Given the description of an element on the screen output the (x, y) to click on. 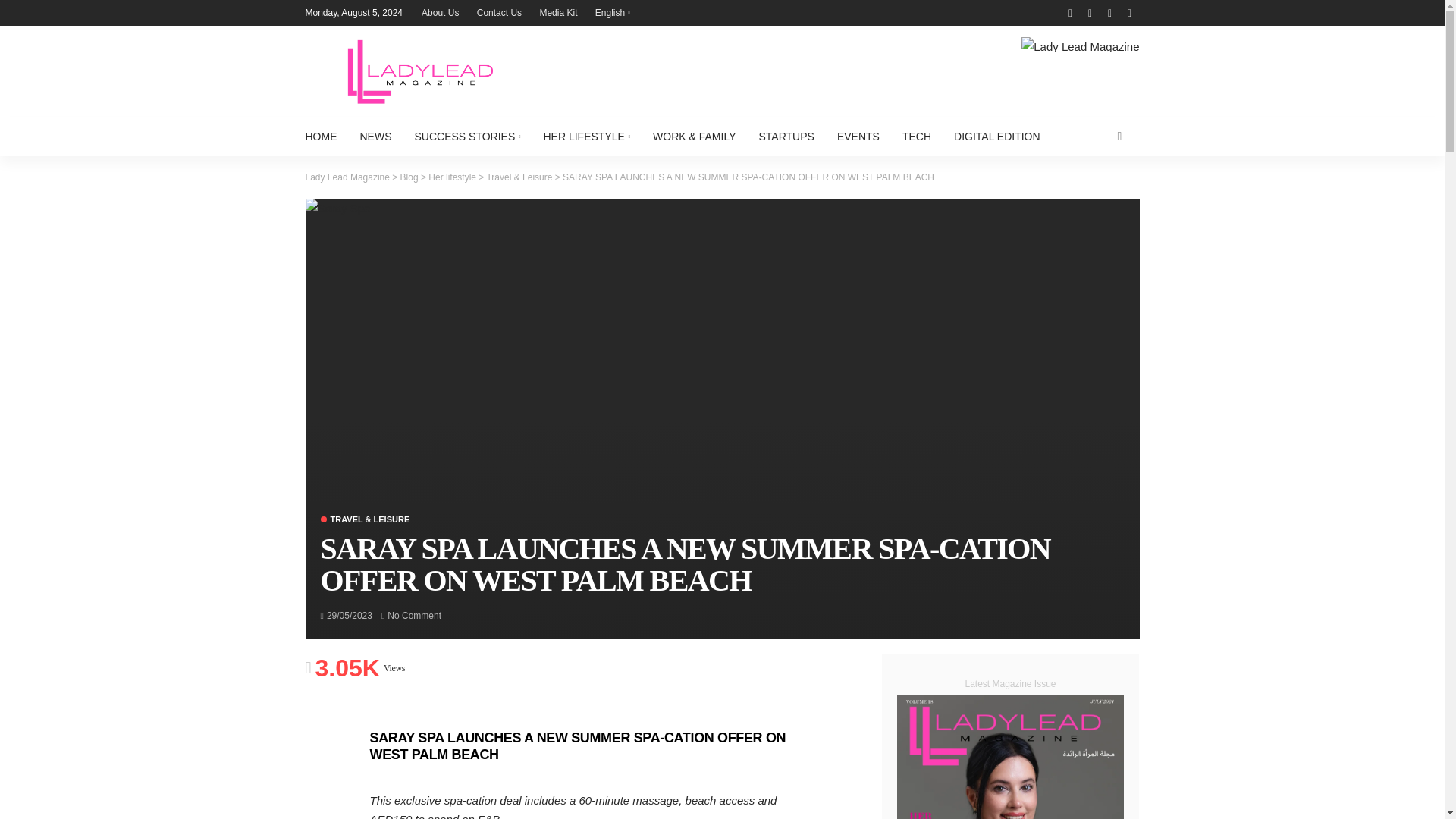
instagram (1089, 12)
facebook (1069, 12)
Media Kit (558, 12)
English (612, 12)
About Us (439, 12)
HOME (325, 136)
Contact Us (498, 12)
linkedin (1109, 12)
youtube (1128, 12)
